Given the description of an element on the screen output the (x, y) to click on. 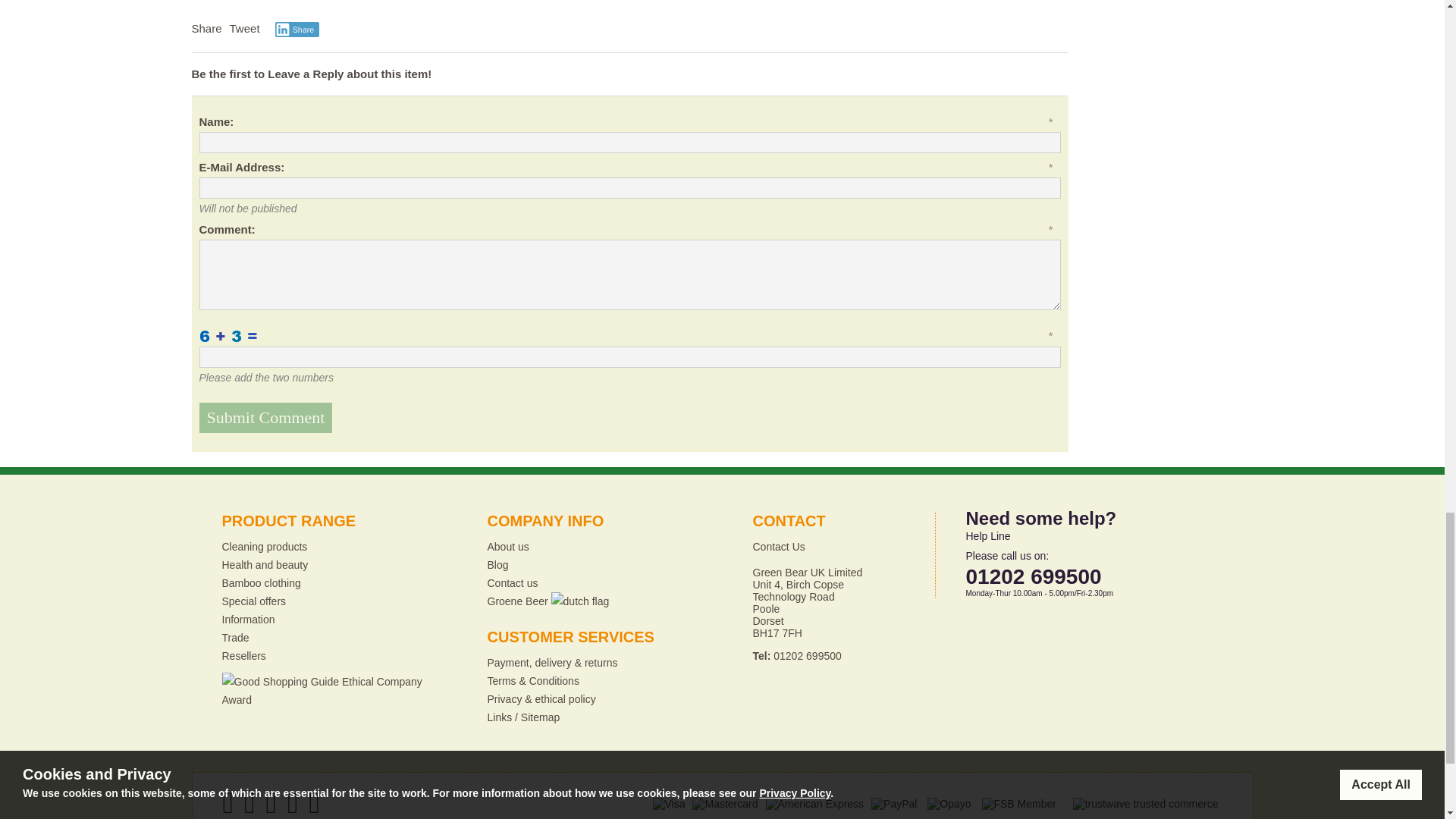
About us (507, 546)
Cleaning products (264, 546)
Information (248, 619)
Tweet (245, 28)
Blog (497, 564)
Groene Beer  (547, 601)
Leave a Reply (305, 73)
Contact us (511, 582)
Trade (234, 637)
Health and beauty (264, 564)
